Given the description of an element on the screen output the (x, y) to click on. 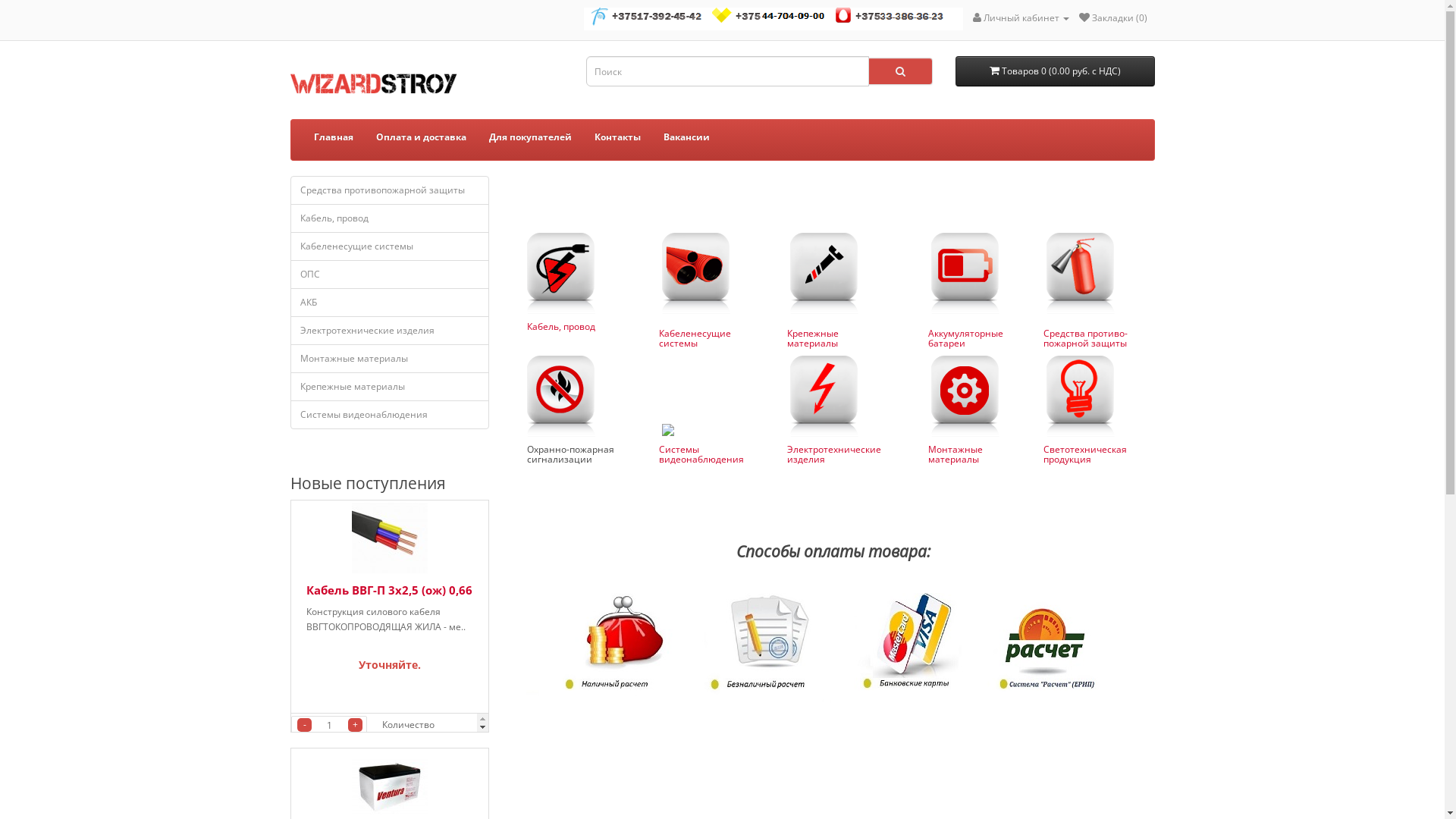
  Element type: text (1078, 271)
  Element type: text (694, 271)
  Element type: text (1078, 394)
  Element type: text (963, 271)
  Element type: text (822, 394)
  Element type: text (822, 271)
  Element type: text (666, 428)
  Element type: text (963, 394)
